Given the description of an element on the screen output the (x, y) to click on. 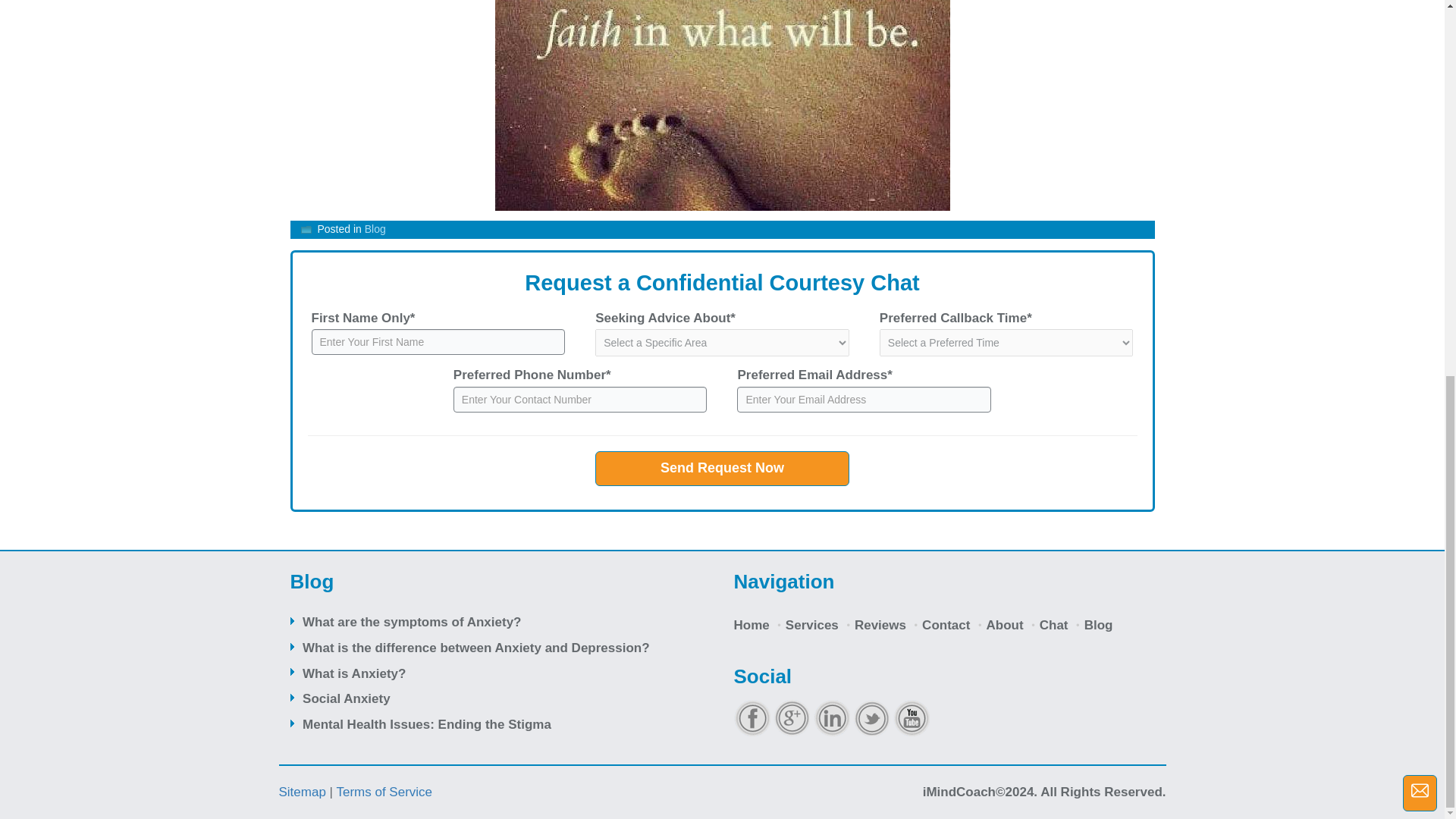
Blog (1098, 625)
Mental Health Issues: Ending the Stigma (426, 724)
Terms of Service (384, 791)
Reviews (880, 625)
Contact (946, 625)
Home (751, 625)
Services (812, 625)
Send Request Now (721, 468)
What are the symptoms of Anxiety? (411, 622)
Home (751, 625)
